Given the description of an element on the screen output the (x, y) to click on. 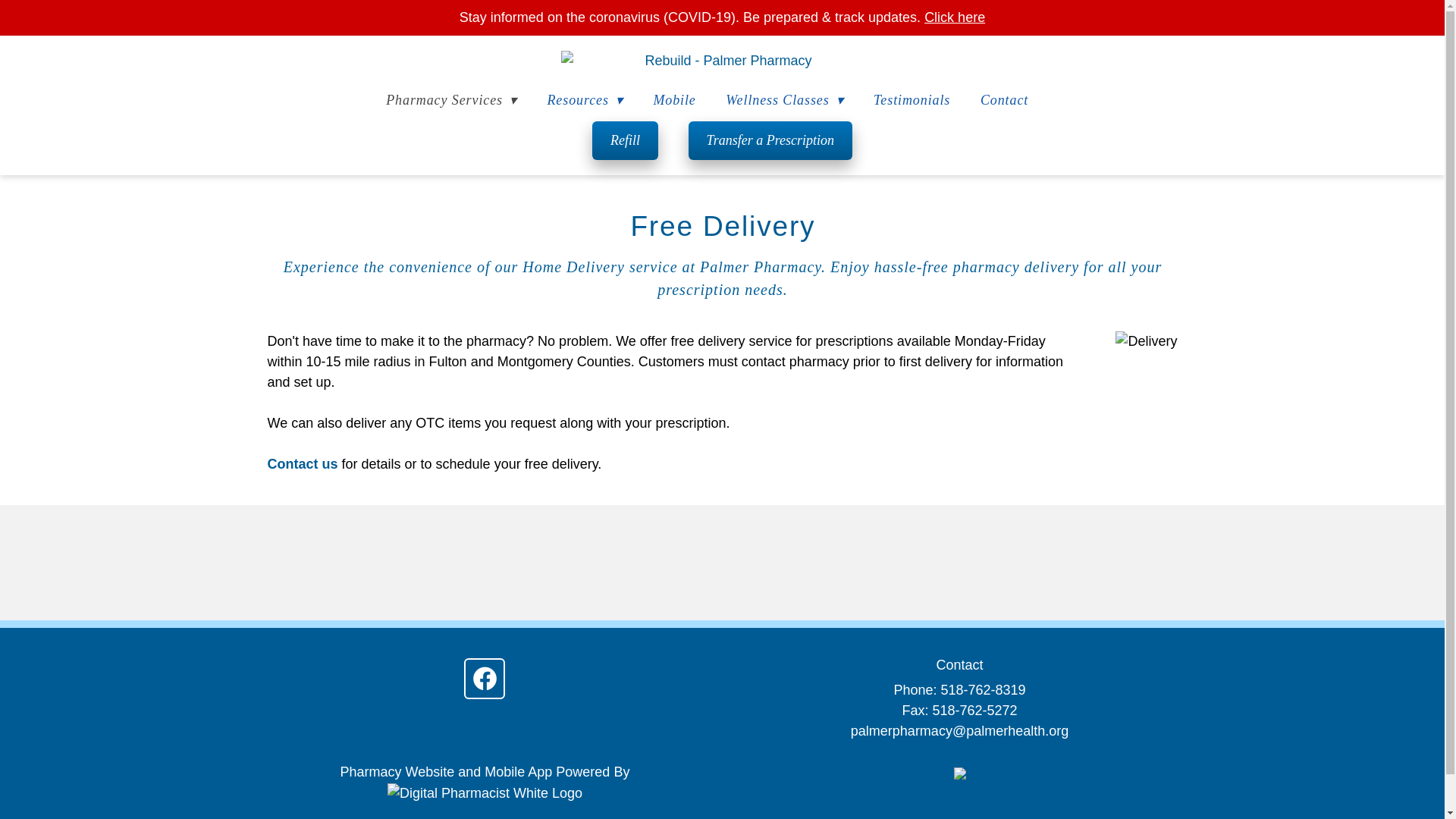
518-762-8319 (982, 689)
Box sitting on the ground (1145, 341)
Rebuild - Palmer Pharmacy (721, 60)
Contact us (301, 463)
Mobile (673, 99)
Refill (625, 140)
Testimonials (911, 99)
Contact (1003, 99)
Transfer a Prescription (769, 140)
